Given the description of an element on the screen output the (x, y) to click on. 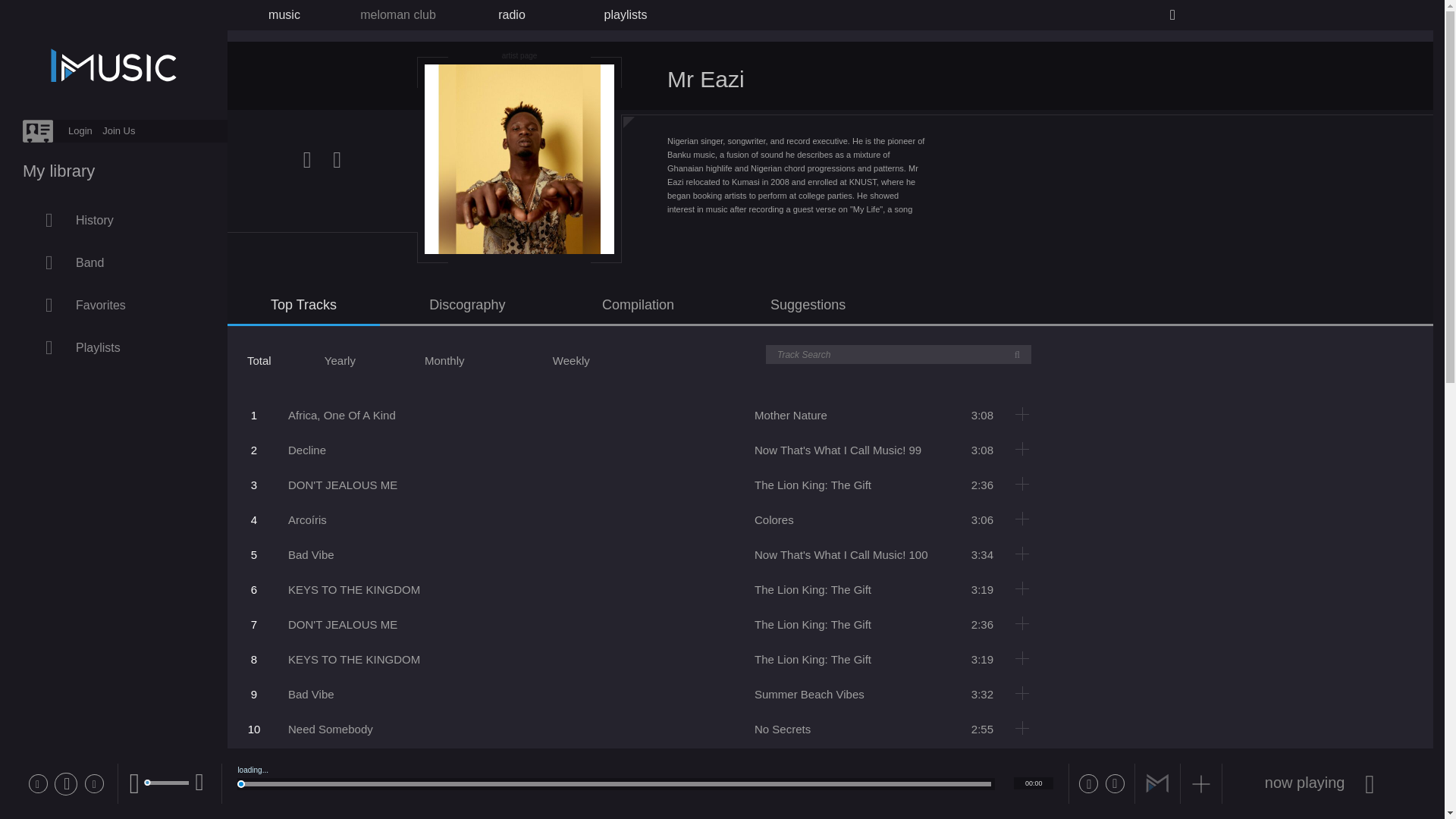
Turn On Repeat (1115, 783)
Favorites (132, 305)
Join Us (118, 130)
Anne-Marie (408, 763)
Login (80, 130)
radio (511, 15)
Mr Eazi (470, 763)
History (132, 220)
Turn On Shuffle (1088, 783)
music (283, 15)
meloman club (397, 15)
playlists (625, 15)
Playlists (132, 347)
Band (132, 262)
